Given the description of an element on the screen output the (x, y) to click on. 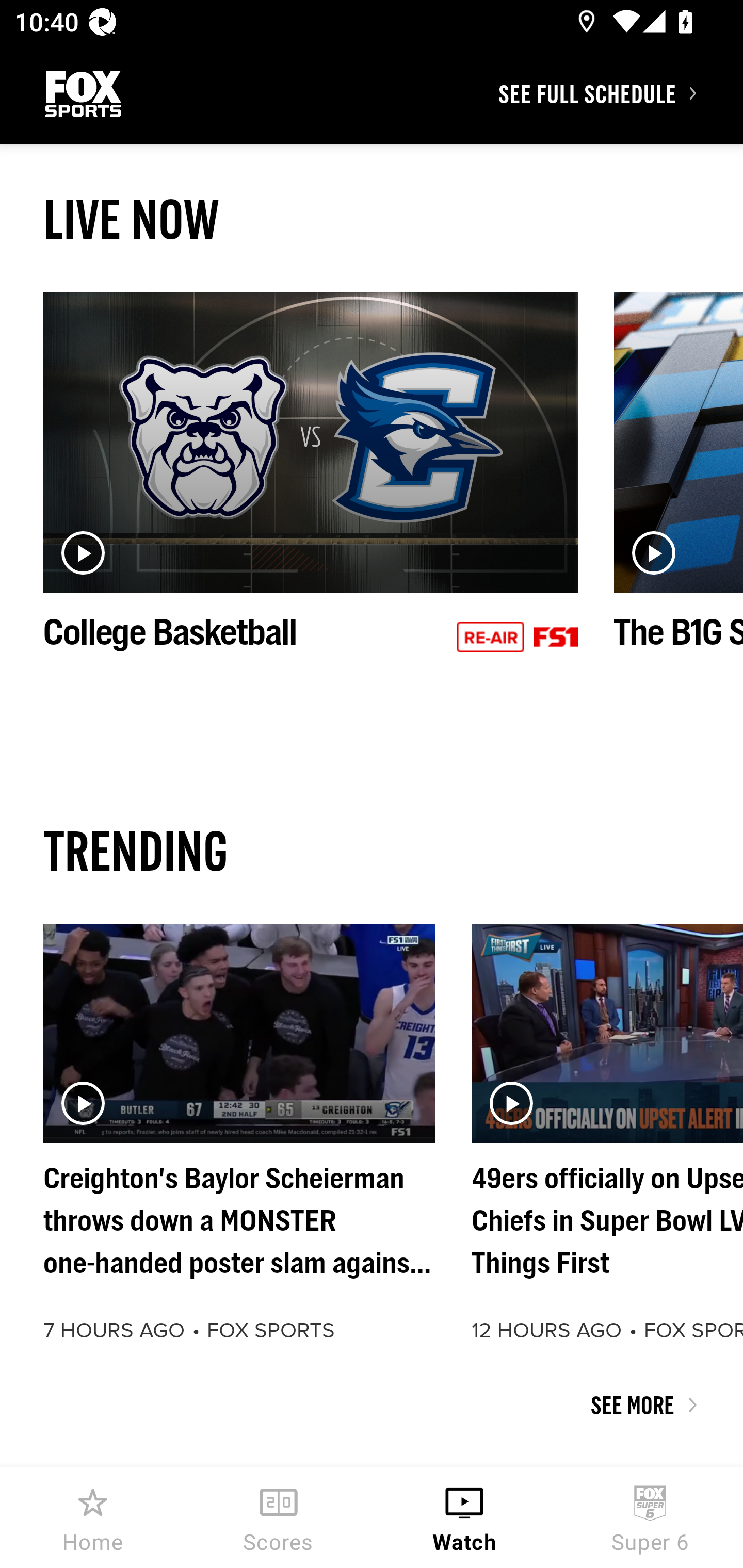
SEE FULL SCHEDULE (620, 93)
LIVE NOW (371, 218)
College Basketball (310, 494)
TRENDING (371, 850)
SEE MORE (371, 1404)
Home (92, 1517)
Scores (278, 1517)
Super 6 (650, 1517)
